Given the description of an element on the screen output the (x, y) to click on. 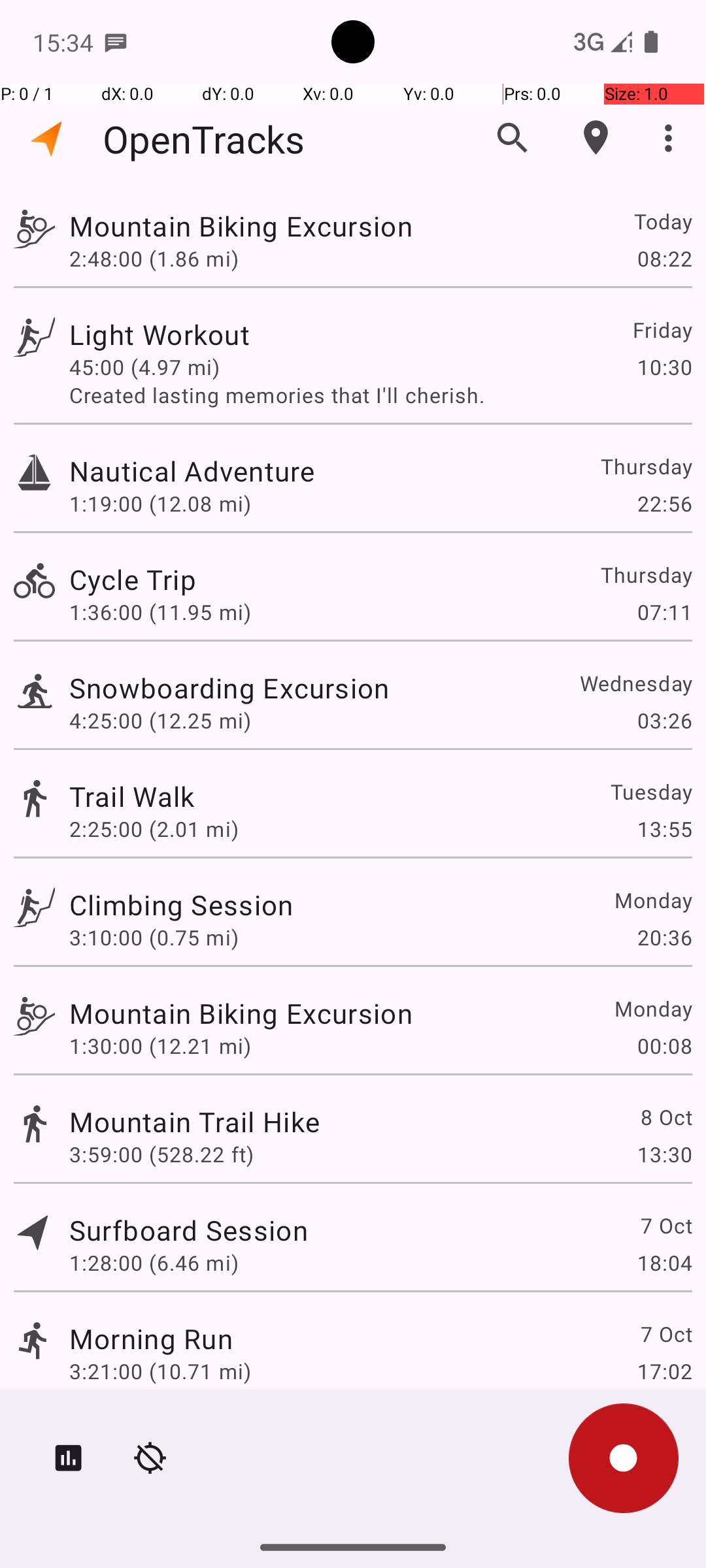
Mountain Biking Excursion Element type: android.widget.TextView (240, 225)
2:48:00 (1.86 mi) Element type: android.widget.TextView (153, 258)
08:22 Element type: android.widget.TextView (664, 258)
Light Workout Element type: android.widget.TextView (159, 333)
45:00 (4.97 mi) Element type: android.widget.TextView (144, 366)
10:30 Element type: android.widget.TextView (664, 366)
Created lasting memories that I'll cherish. Element type: android.widget.TextView (380, 394)
Nautical Adventure Element type: android.widget.TextView (191, 470)
Thursday Element type: android.widget.TextView (645, 466)
1:19:00 (12.08 mi) Element type: android.widget.TextView (159, 503)
22:56 Element type: android.widget.TextView (664, 503)
Cycle Trip Element type: android.widget.TextView (132, 578)
1:36:00 (11.95 mi) Element type: android.widget.TextView (159, 611)
07:11 Element type: android.widget.TextView (664, 611)
Snowboarding Excursion Element type: android.widget.TextView (229, 687)
Wednesday Element type: android.widget.TextView (635, 683)
4:25:00 (12.25 mi) Element type: android.widget.TextView (159, 720)
03:26 Element type: android.widget.TextView (664, 720)
Trail Walk Element type: android.widget.TextView (131, 795)
Tuesday Element type: android.widget.TextView (650, 791)
2:25:00 (2.01 mi) Element type: android.widget.TextView (153, 828)
13:55 Element type: android.widget.TextView (664, 828)
Climbing Session Element type: android.widget.TextView (180, 904)
Monday Element type: android.widget.TextView (652, 899)
3:10:00 (0.75 mi) Element type: android.widget.TextView (153, 937)
20:36 Element type: android.widget.TextView (664, 937)
1:30:00 (12.21 mi) Element type: android.widget.TextView (159, 1045)
00:08 Element type: android.widget.TextView (664, 1045)
Mountain Trail Hike Element type: android.widget.TextView (194, 1121)
8 Oct Element type: android.widget.TextView (665, 1116)
3:59:00 (528.22 ft) Element type: android.widget.TextView (161, 1154)
13:30 Element type: android.widget.TextView (664, 1154)
Surfboard Session Element type: android.widget.TextView (188, 1229)
7 Oct Element type: android.widget.TextView (665, 1225)
1:28:00 (6.46 mi) Element type: android.widget.TextView (153, 1262)
18:04 Element type: android.widget.TextView (664, 1262)
Morning Run Element type: android.widget.TextView (150, 1337)
3:21:00 (10.71 mi) Element type: android.widget.TextView (159, 1370)
17:02 Element type: android.widget.TextView (664, 1370)
